Given the description of an element on the screen output the (x, y) to click on. 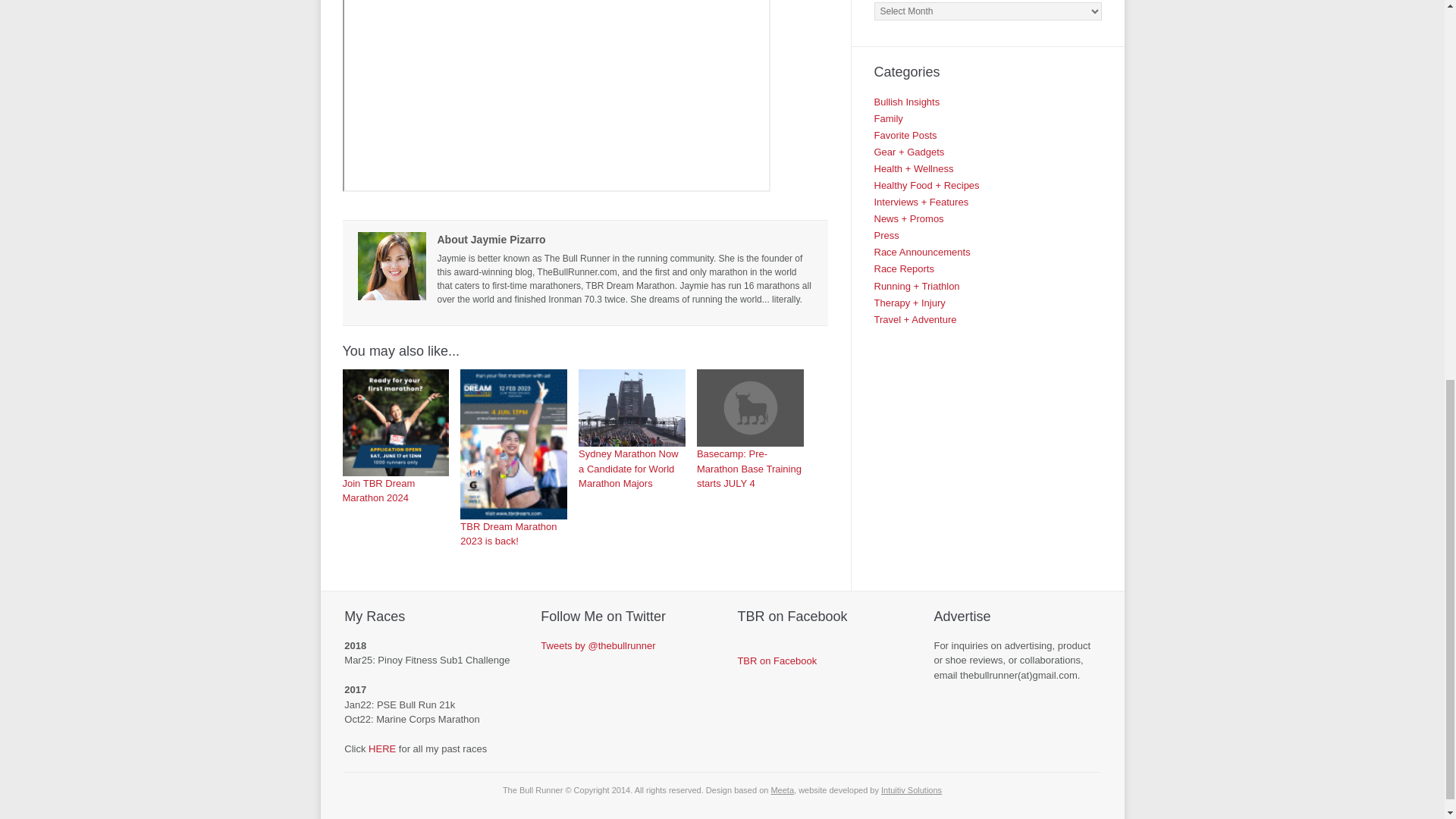
Race Reports (903, 268)
TBR on Facebook (776, 660)
Basecamp: Pre-Marathon Base Training starts JULY 4 (750, 407)
Sydney Marathon Now a Candidate for World Marathon Majors (631, 407)
Sydney Marathon Now a Candidate for World Marathon Majors (631, 428)
Premium WordPress Themes (781, 789)
HERE (382, 748)
Favorite Posts (904, 134)
Race Announcements (921, 251)
Family (887, 118)
Press (885, 235)
Basecamp: Pre-Marathon Base Training starts JULY 4 (750, 428)
Past Races (382, 748)
Join TBR Dream Marathon 2024 (395, 422)
Bullish Insights (906, 101)
